Given the description of an element on the screen output the (x, y) to click on. 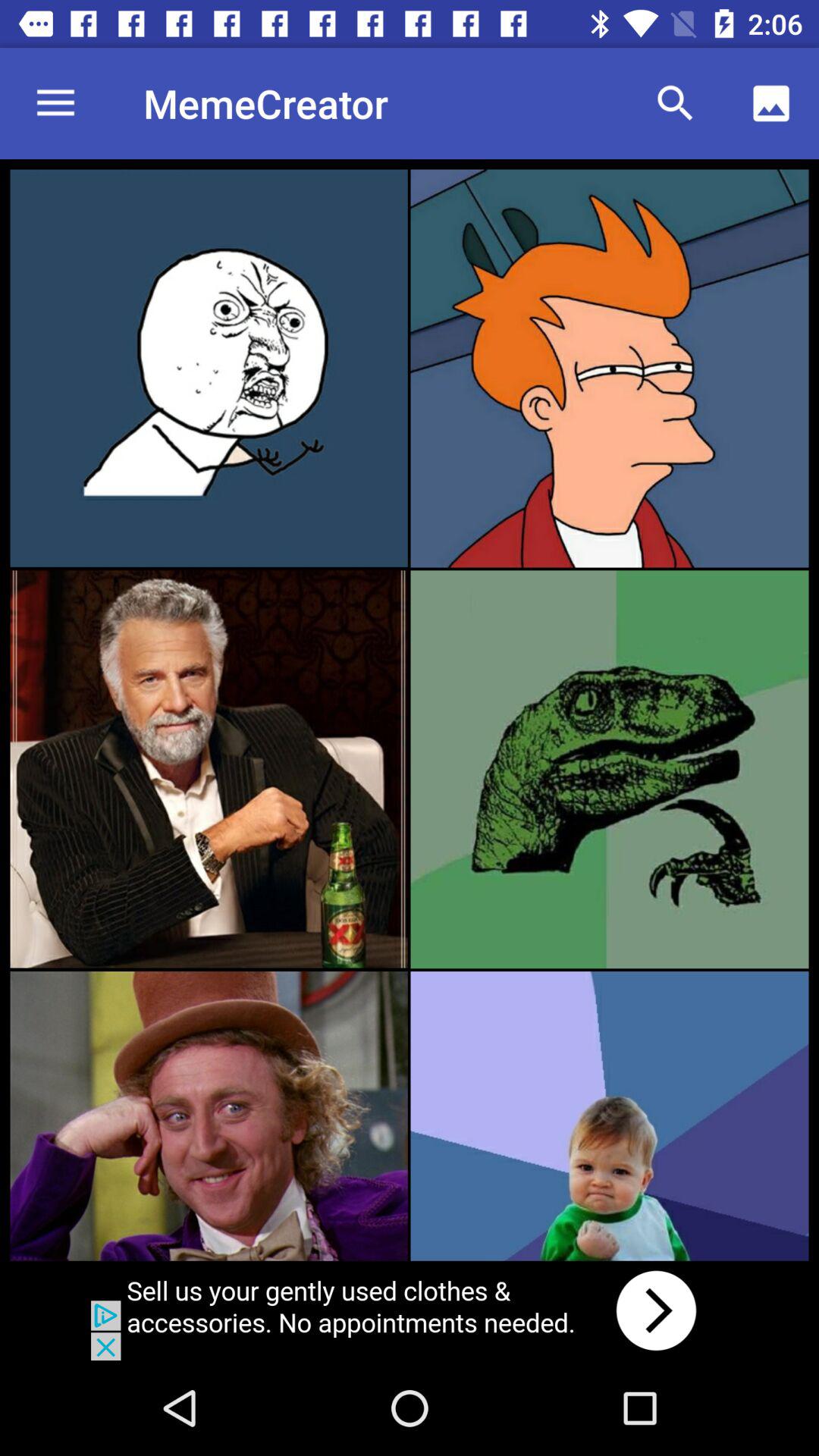
first meme (208, 368)
